Given the description of an element on the screen output the (x, y) to click on. 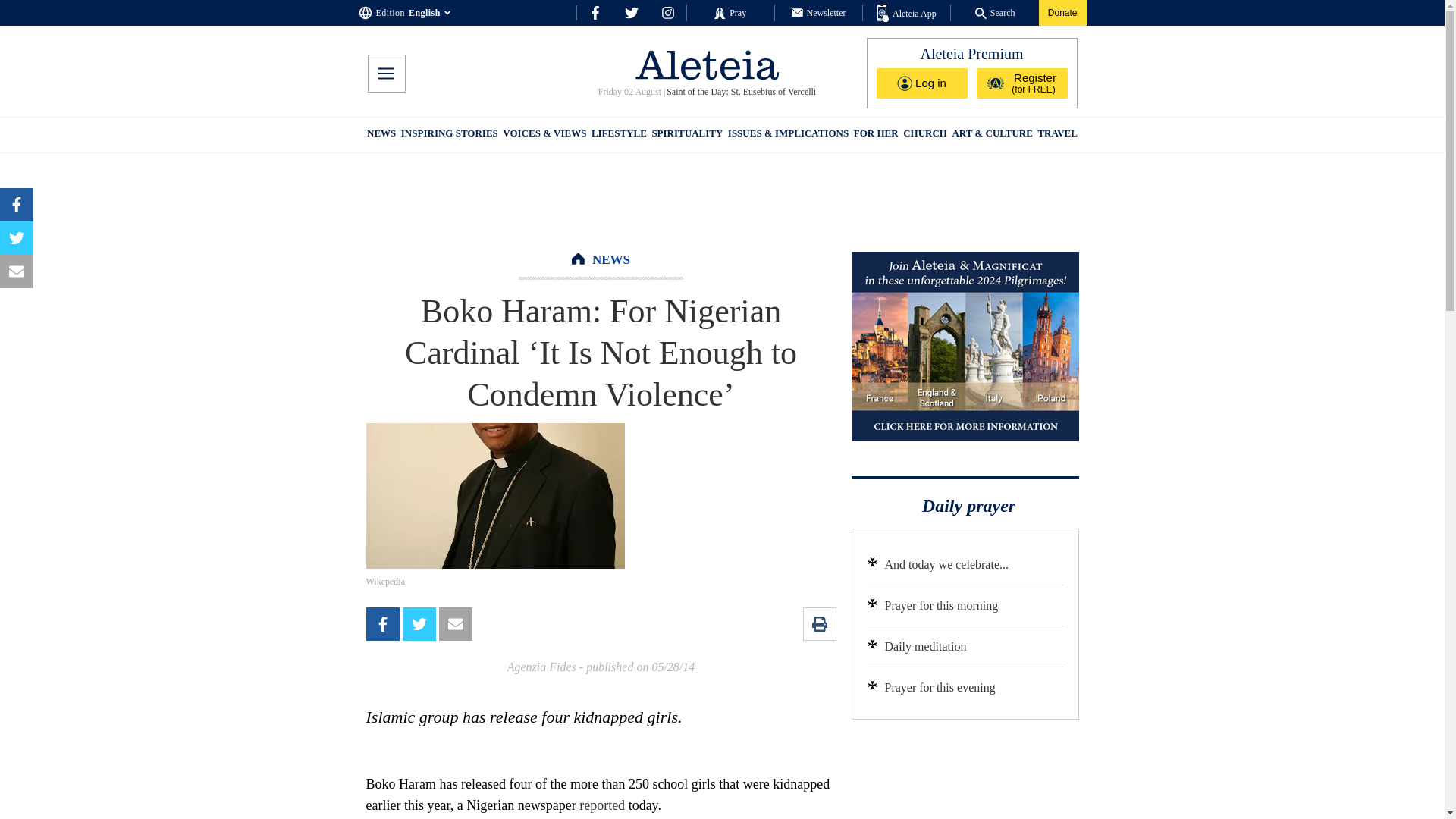
social-tw-top-row (631, 12)
Saint of the Day: St. Eusebius of Vercelli (740, 91)
logo-header (706, 64)
reported (603, 805)
social-fb-top-row (595, 12)
NEWS (611, 259)
Aleteia App (906, 13)
Donate (1062, 12)
Newsletter (818, 12)
FOR HER (875, 134)
